Given the description of an element on the screen output the (x, y) to click on. 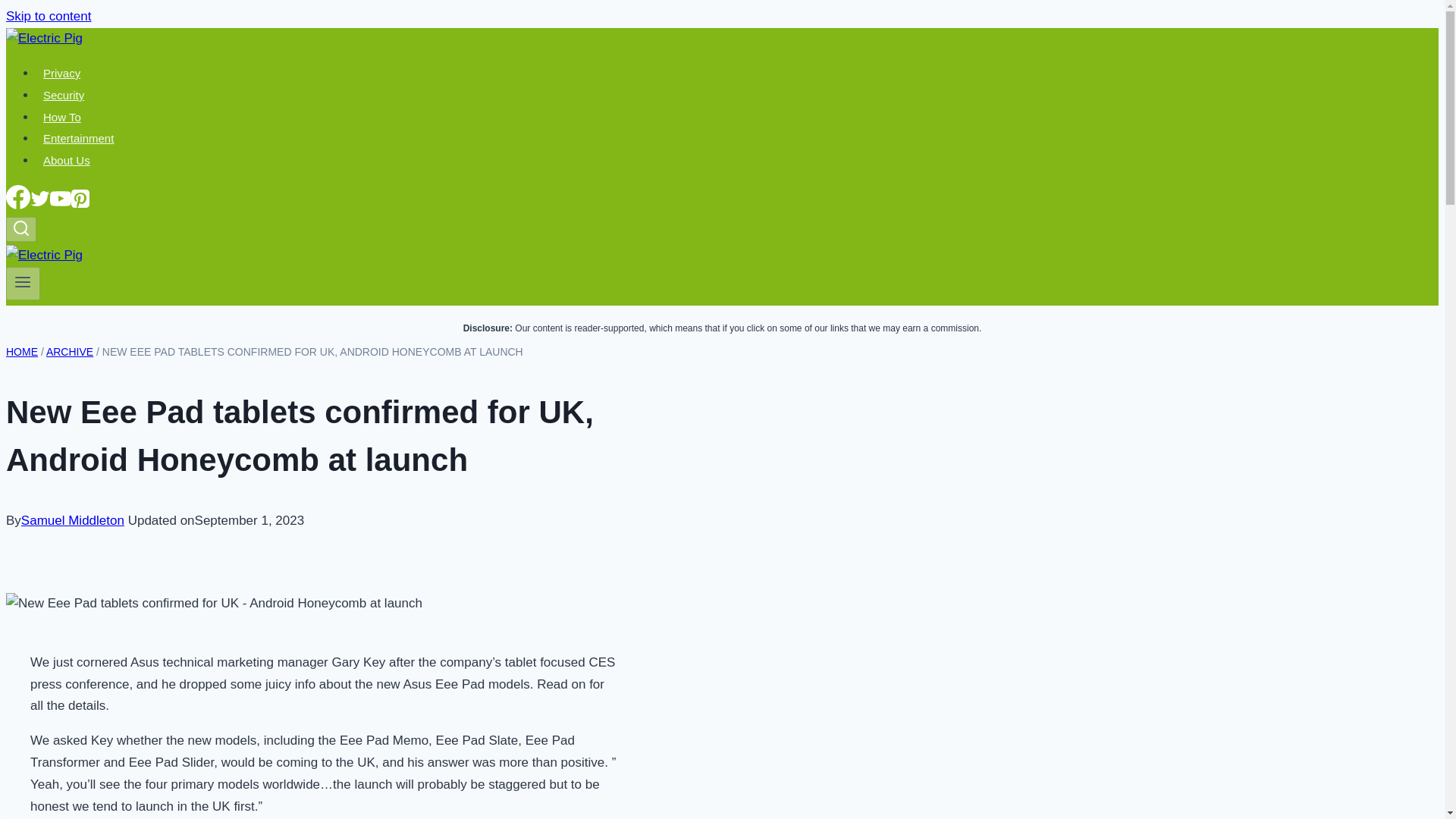
ARCHIVE (69, 351)
Search (20, 229)
About Us (66, 160)
How To (61, 117)
Facebook (17, 197)
Security (63, 94)
Privacy (61, 72)
Skip to content (47, 16)
HOME (21, 351)
YouTube (60, 198)
Toggle Menu (22, 281)
Skip to content (47, 16)
Twitter (39, 205)
Entertainment (78, 138)
YouTube (60, 205)
